Given the description of an element on the screen output the (x, y) to click on. 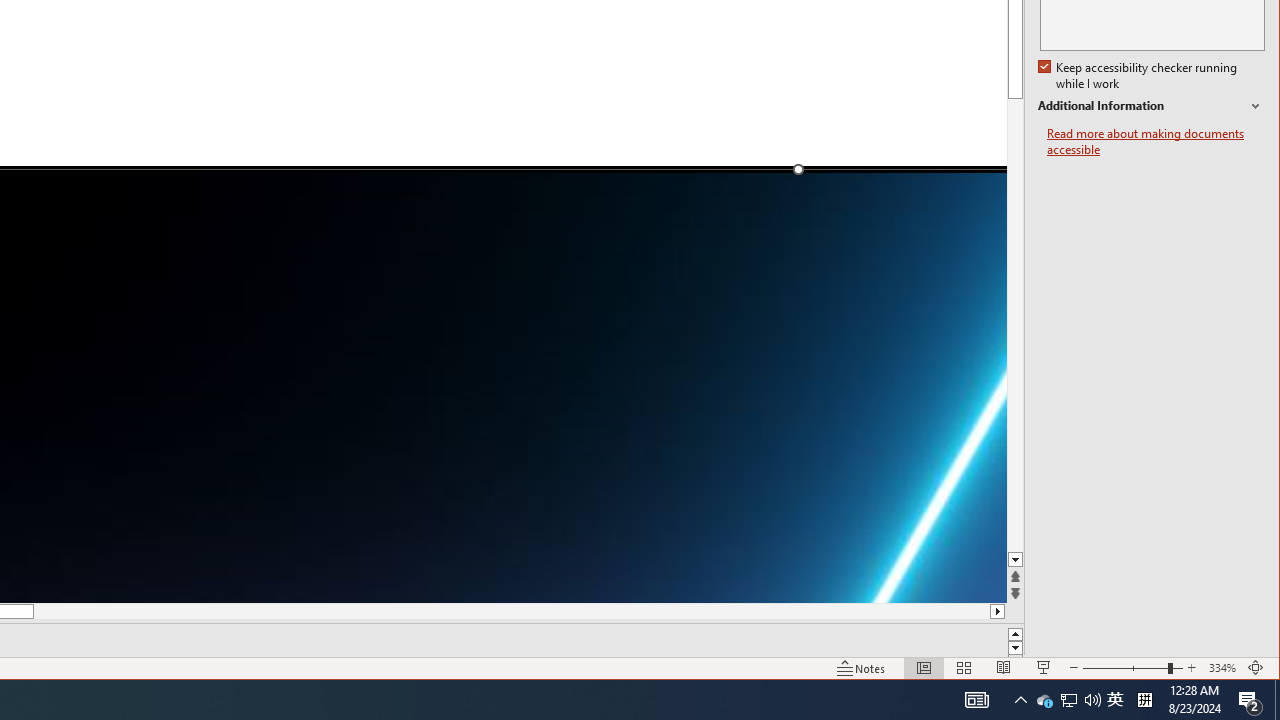
Zoom 334% (1222, 668)
